Given the description of an element on the screen output the (x, y) to click on. 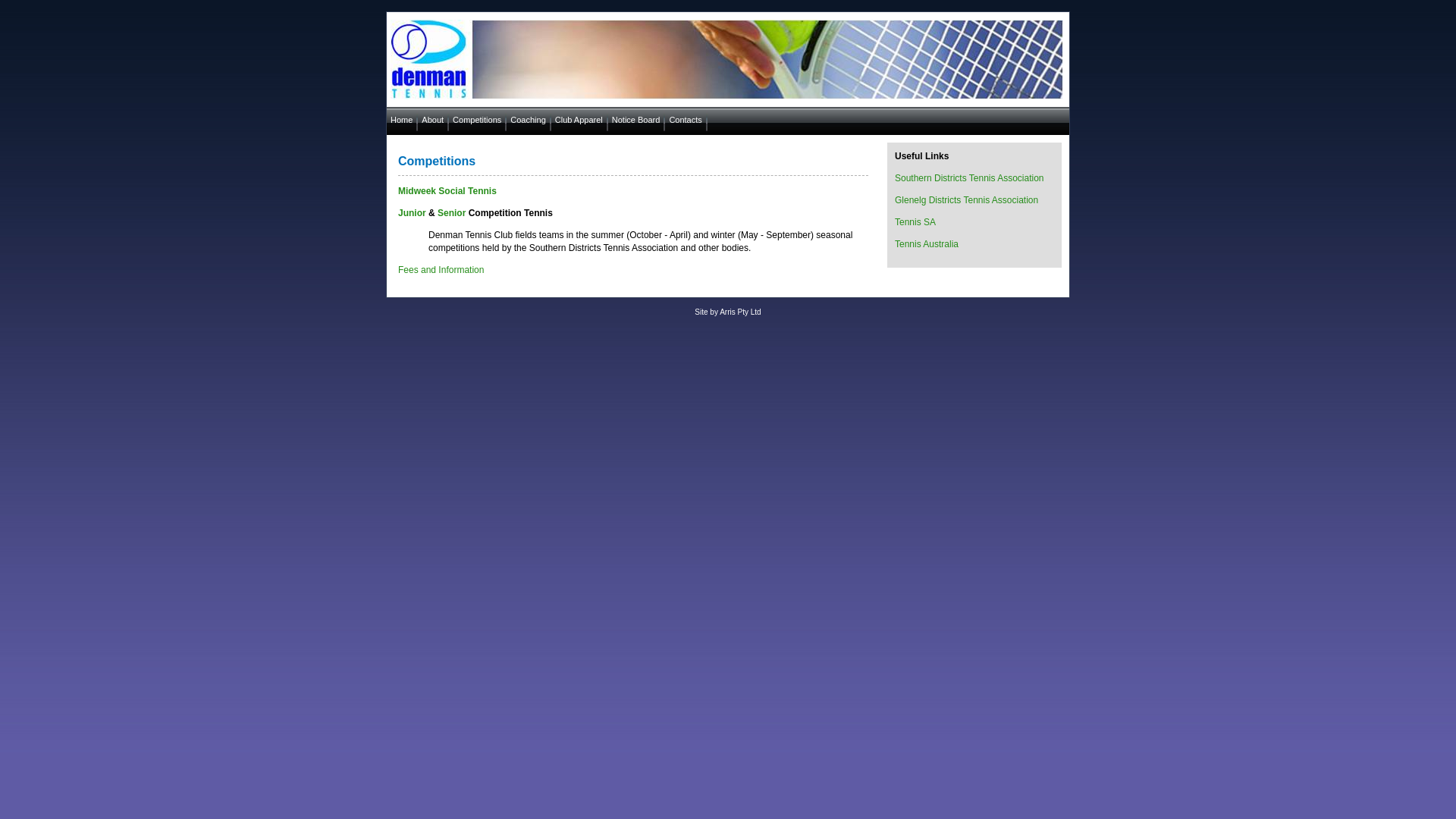
Tennis Australia Element type: text (926, 243)
Competitions Element type: text (477, 119)
Site by Arris Pty Ltd Element type: text (727, 311)
Fees and Information Element type: text (440, 269)
Home Element type: text (401, 119)
Senior Element type: text (451, 212)
About Element type: text (432, 119)
Junior Element type: text (412, 212)
Glenelg Districts Tennis Association Element type: text (966, 199)
Notice Board Element type: text (636, 119)
Coaching Element type: text (528, 119)
Club Apparel Element type: text (579, 119)
Midweek Social Tennis Element type: text (447, 190)
Tennis SA Element type: text (914, 221)
Contacts Element type: text (685, 119)
Southern Districts Tennis Association Element type: text (969, 177)
